Given the description of an element on the screen output the (x, y) to click on. 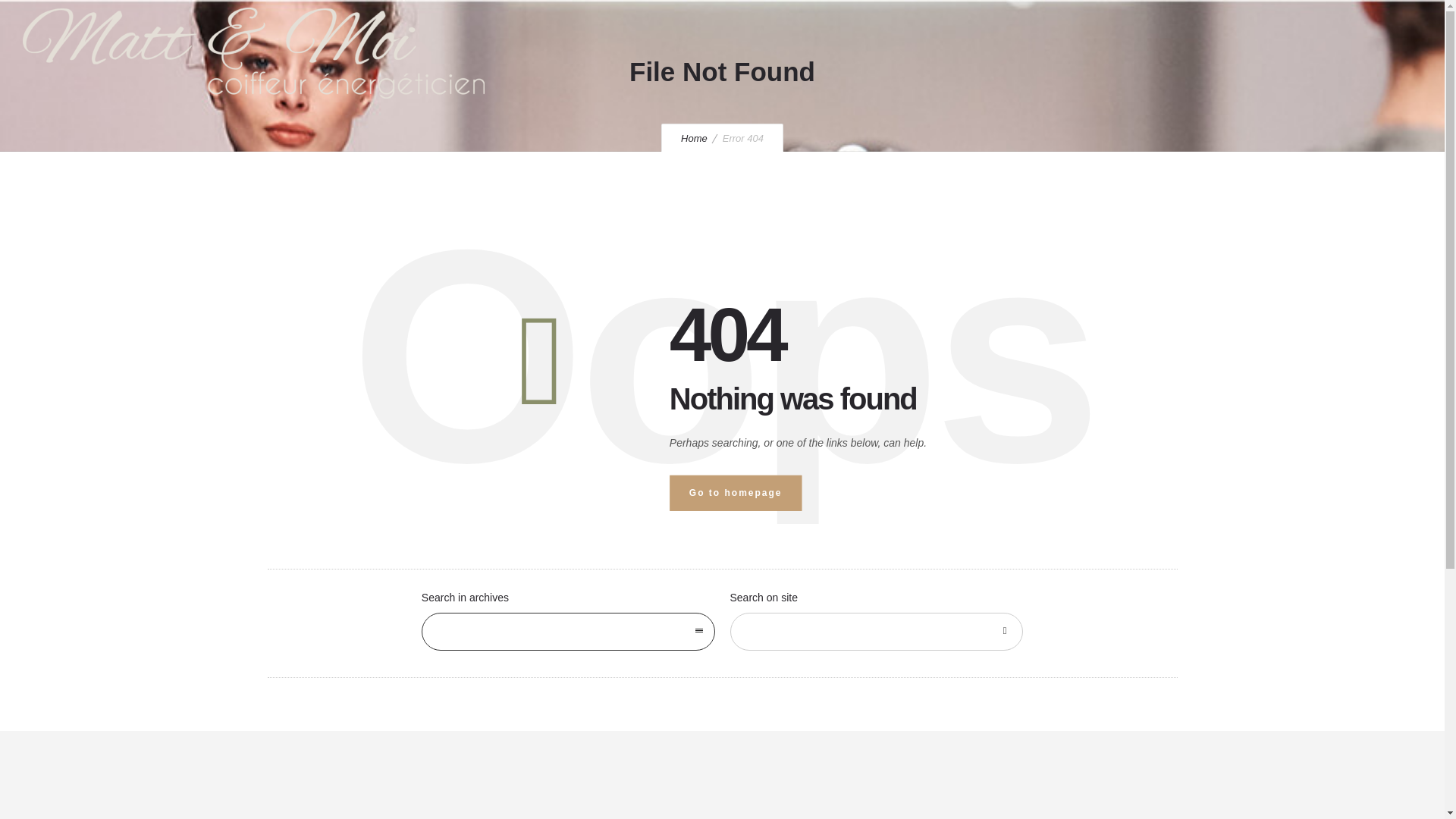
Search (1004, 631)
Search (1004, 631)
Go to homepage (735, 493)
Home (694, 138)
